Given the description of an element on the screen output the (x, y) to click on. 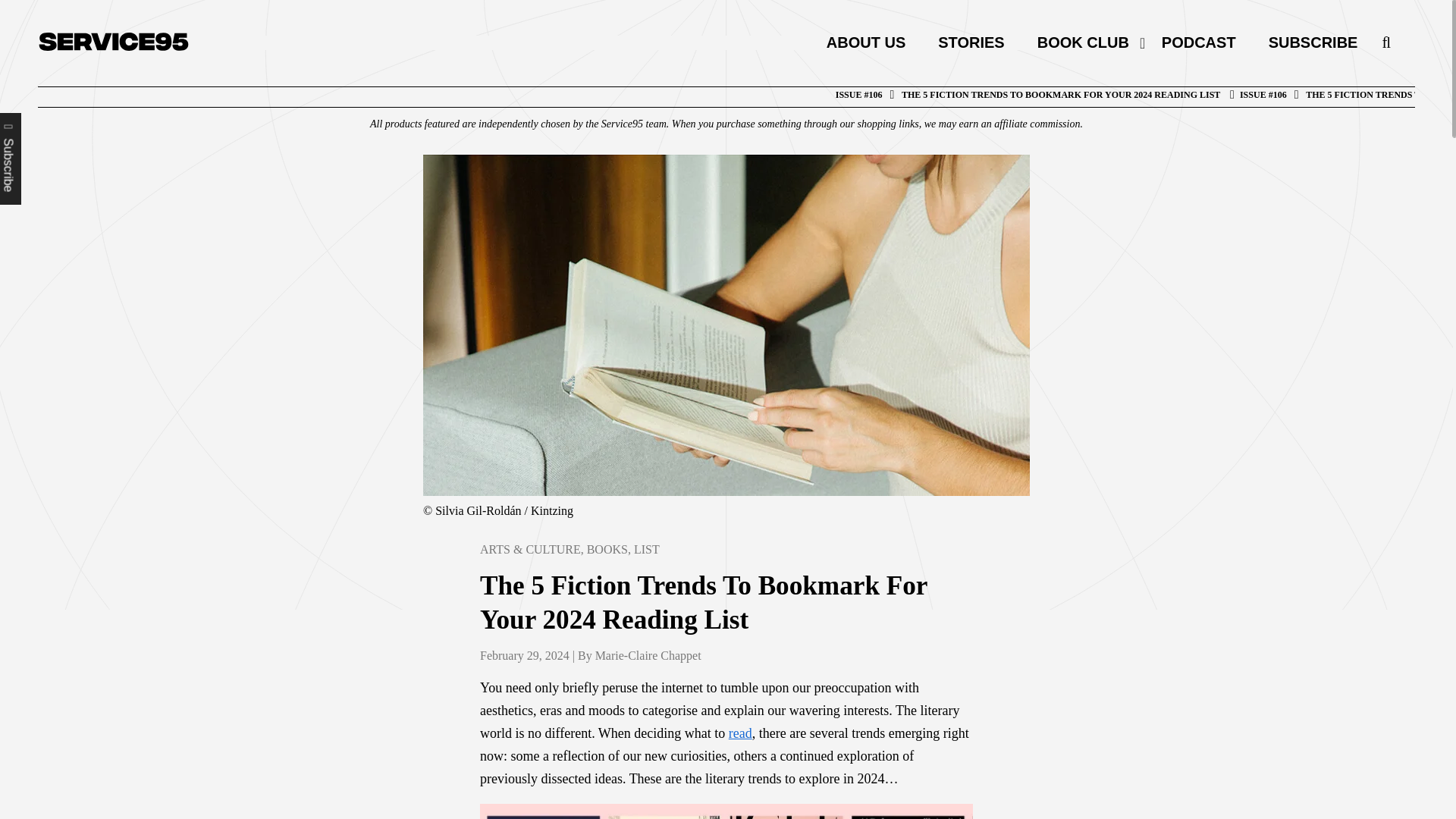
ABOUT US (865, 42)
STORIES (970, 42)
read (740, 733)
PODCAST (1198, 42)
BOOK CLUB (1082, 42)
LIST (646, 549)
BOOKS (606, 549)
SUBSCRIBE (1304, 42)
